Given the description of an element on the screen output the (x, y) to click on. 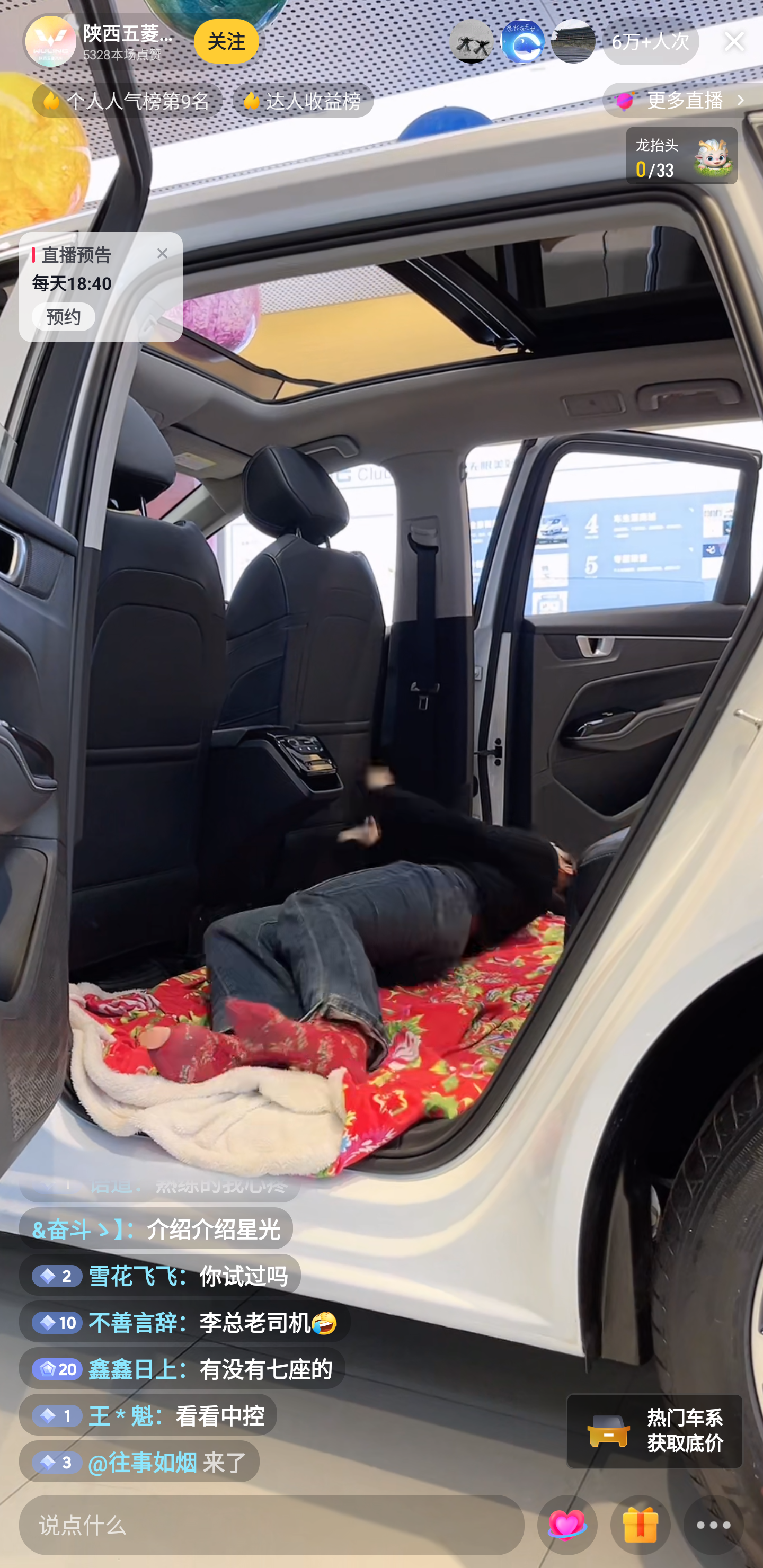
榜一 F (471, 41)
榜二 七雨飘 (522, 41)
榜三 du (572, 41)
主播陕西五菱旗舰店 5328本场点赞  陕西五菱旗舰店 5328本场点赞 关注 (143, 41)
6万+人次 (650, 41)
关注 (226, 41)
关闭 (733, 41)
个人人气榜第9名，按钮 (127, 100)
达人收益榜，按钮 (302, 100)
更多直播 (682, 100)
心愿单- (681, 156)
关闭预告贴片 (162, 249)
预约 按钮 预约 (63, 316)
&奋斗ゝ】：介绍介绍星光 (155, 1228)
* 雪花飞飞：你试过吗 (159, 1274)
* 不善言辞：李总老司机[捂脸] (184, 1320)
* 鑫鑫日上：有没有七座的 (182, 1367)
热门车系 获取底价 (654, 1431)
* 王 * 魁：看看中控 (147, 1414)
* @往事如烟 来了 (139, 1460)
说点什么 表情入口 (271, 1524)
小心心 (567, 1526)
礼物 (640, 1526)
更多面板 按钮 (713, 1526)
